Given the description of an element on the screen output the (x, y) to click on. 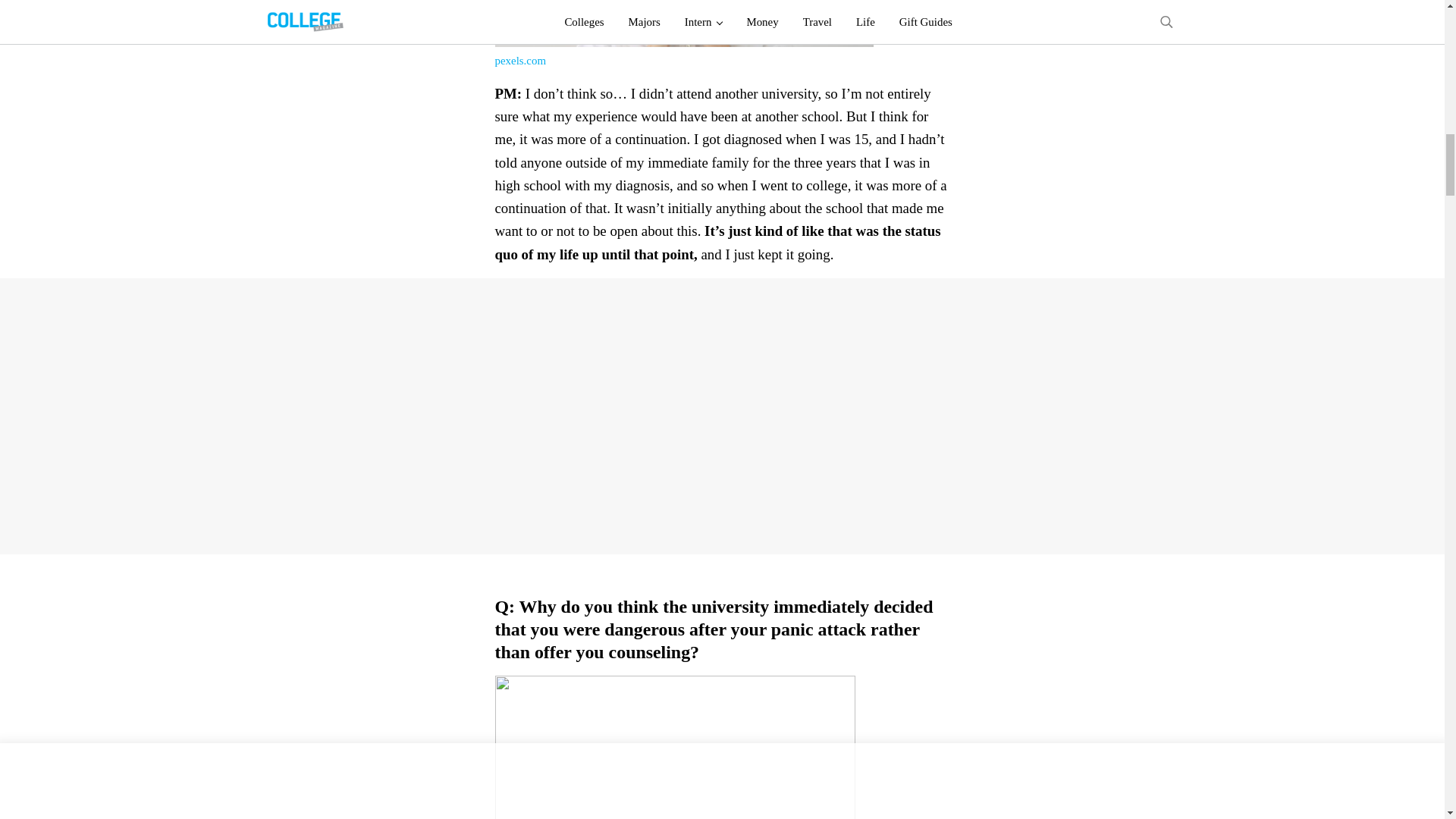
pexels.com (519, 60)
